Given the description of an element on the screen output the (x, y) to click on. 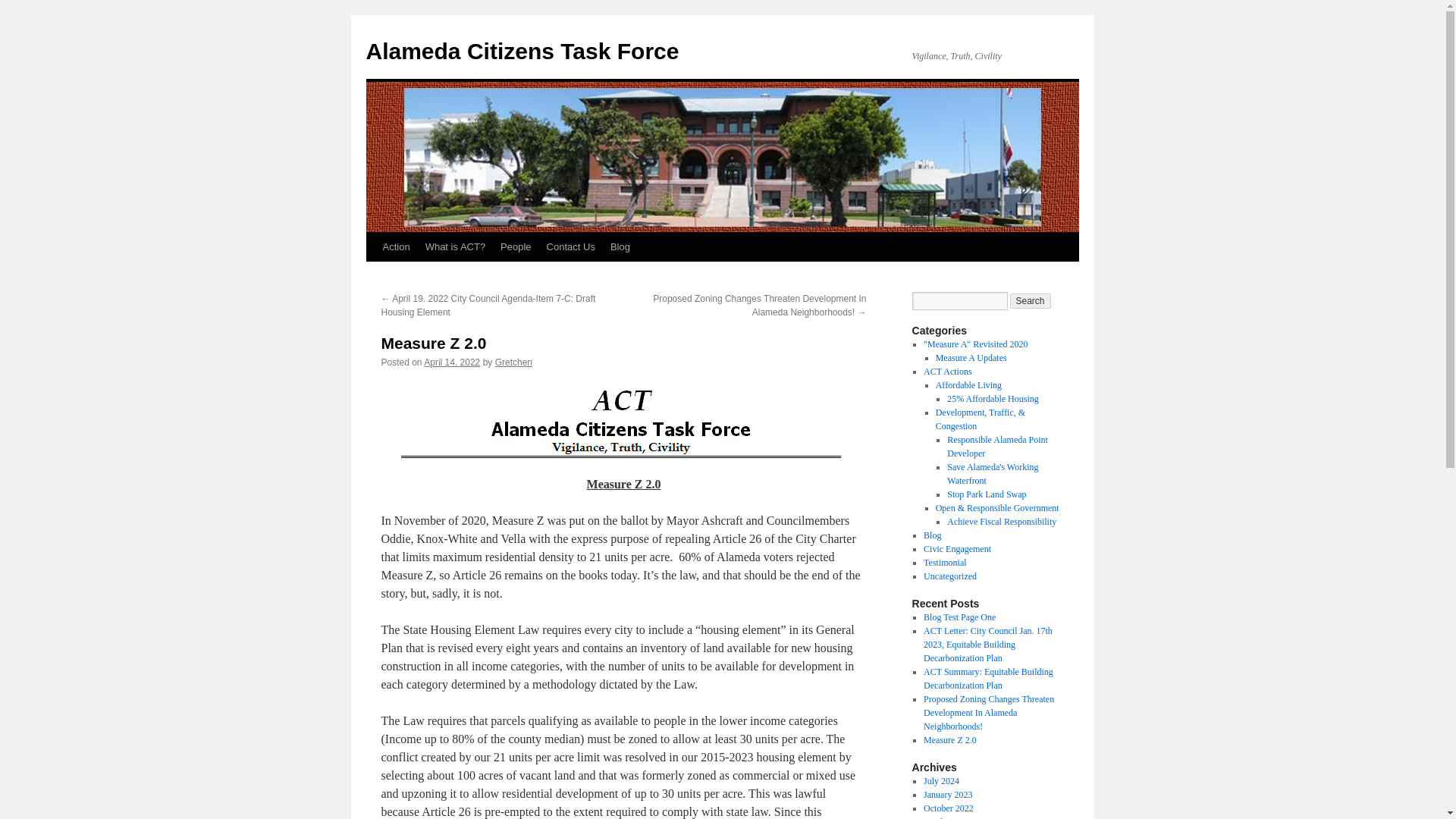
Search (1030, 300)
People (515, 246)
10:30 am (451, 362)
Blog (619, 246)
Responsible Alameda Point Developer (997, 446)
Stop Park Land Swap (986, 493)
Gretchen (513, 362)
What is ACT? (455, 246)
Uncategorized (949, 575)
Save Alameda's Working Waterfront (992, 473)
